Given the description of an element on the screen output the (x, y) to click on. 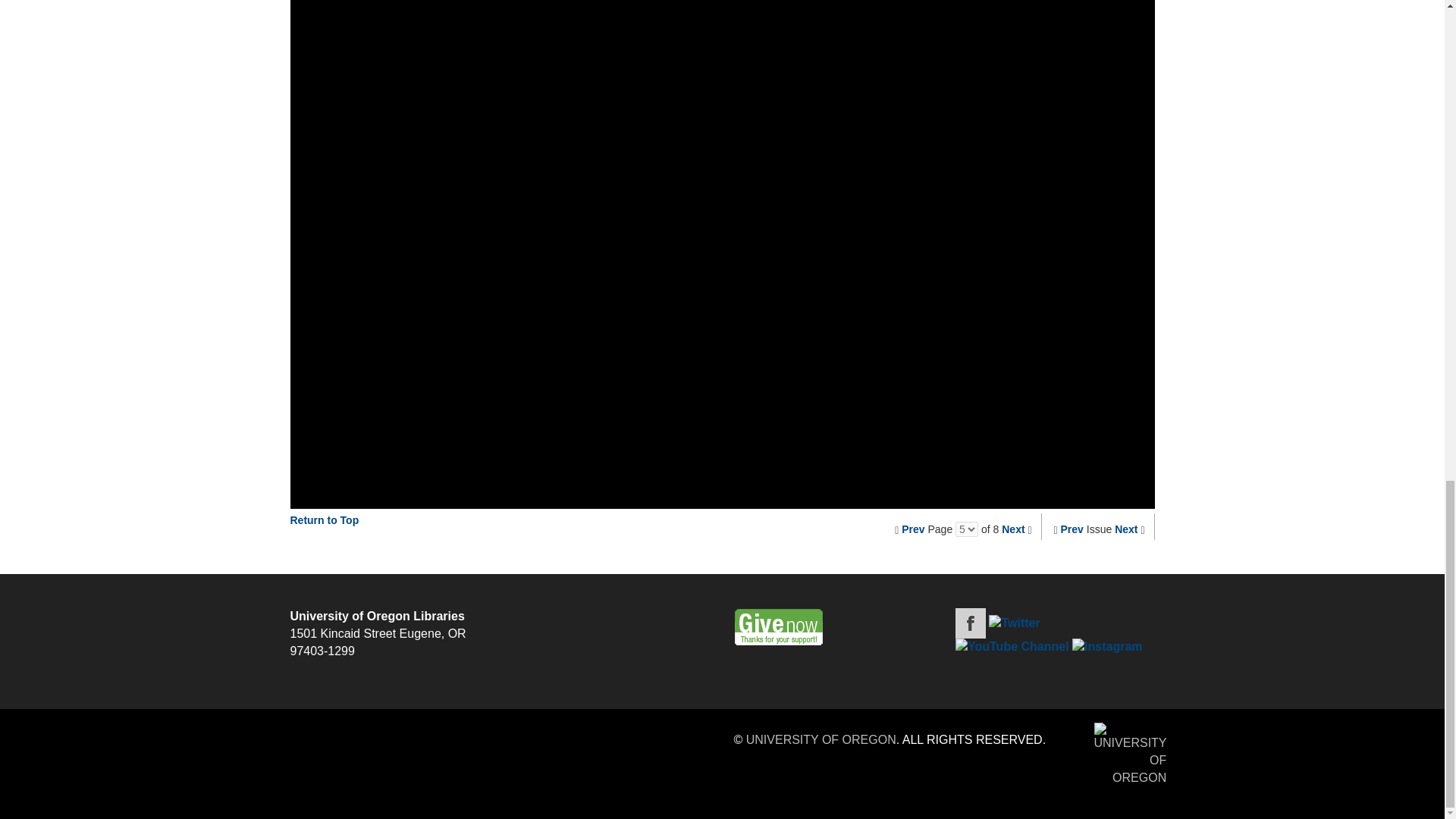
Return to Top (323, 520)
Next (1126, 529)
Next (1013, 529)
Prev (912, 529)
Prev (1072, 529)
